Given the description of an element on the screen output the (x, y) to click on. 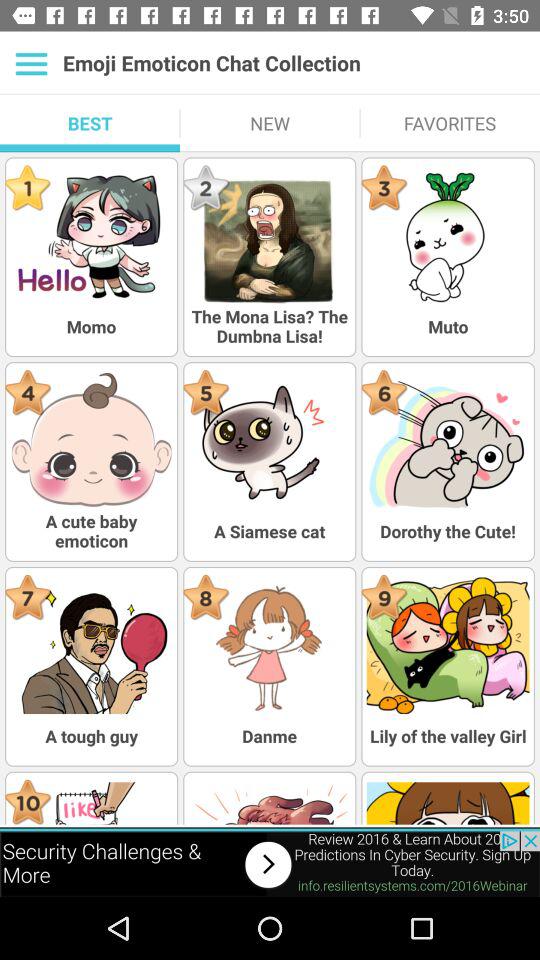
select settings (31, 63)
